Given the description of an element on the screen output the (x, y) to click on. 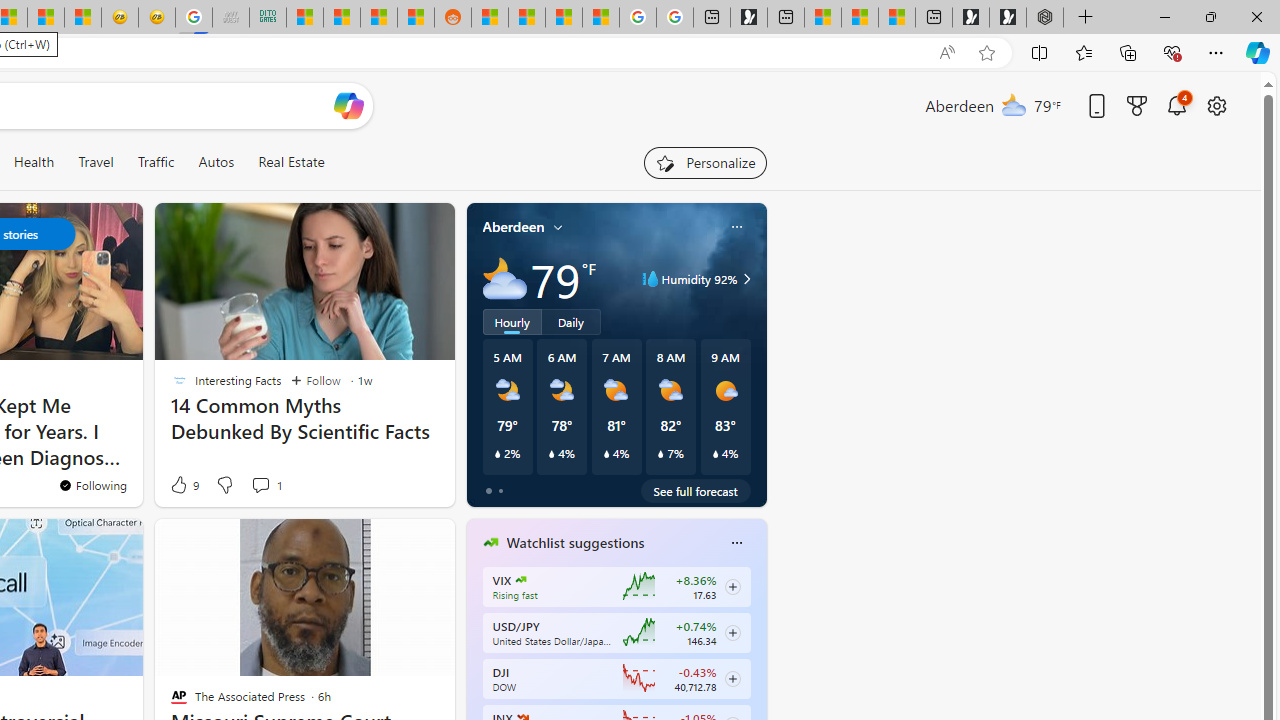
Watchlist suggestions (575, 543)
